Given the description of an element on the screen output the (x, y) to click on. 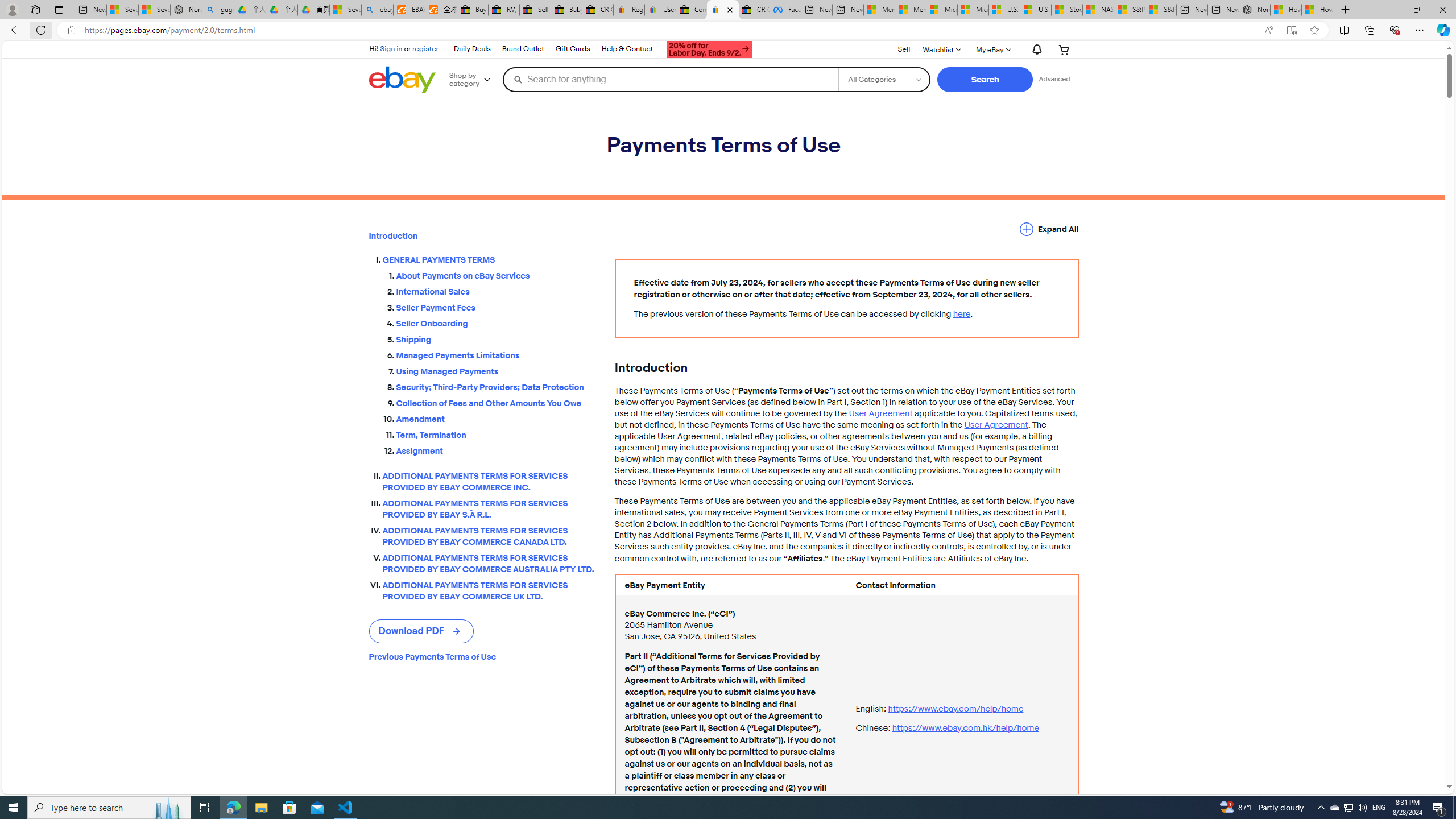
Seller Payment Fees (496, 305)
About Payments on eBay Services (496, 273)
